Given the description of an element on the screen output the (x, y) to click on. 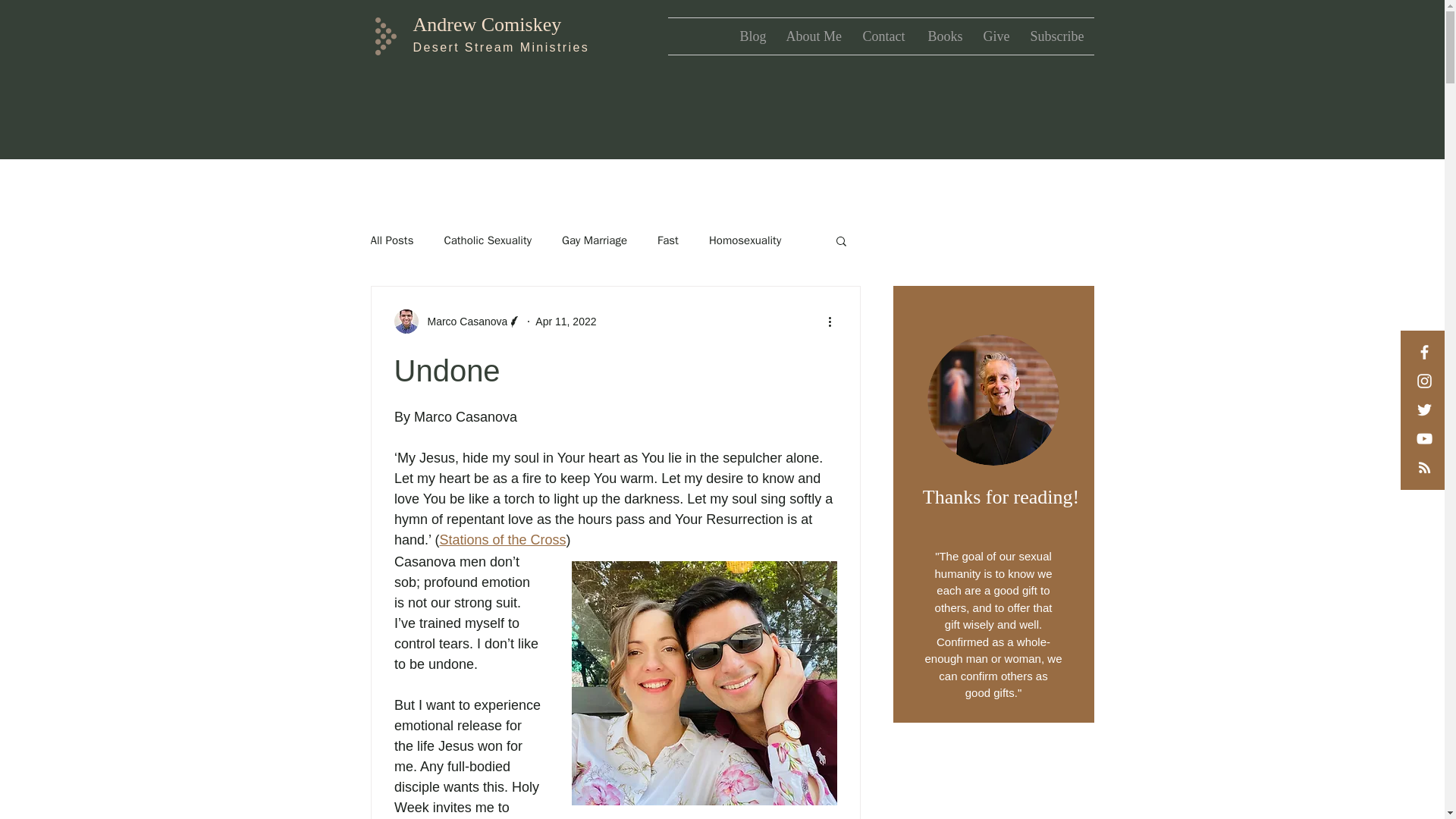
Catholic Sexuality (487, 240)
All Posts (391, 240)
Marco Casanova (463, 321)
About Me (812, 36)
Books (943, 36)
Desert Stream Ministries (500, 47)
Give (995, 36)
Contact (882, 36)
Gay Marriage (594, 240)
Andrew Comiskey (486, 24)
Apr 11, 2022 (565, 321)
Stations of the Cross (502, 539)
Blog (751, 36)
Homosexuality (744, 240)
Fast (668, 240)
